Given the description of an element on the screen output the (x, y) to click on. 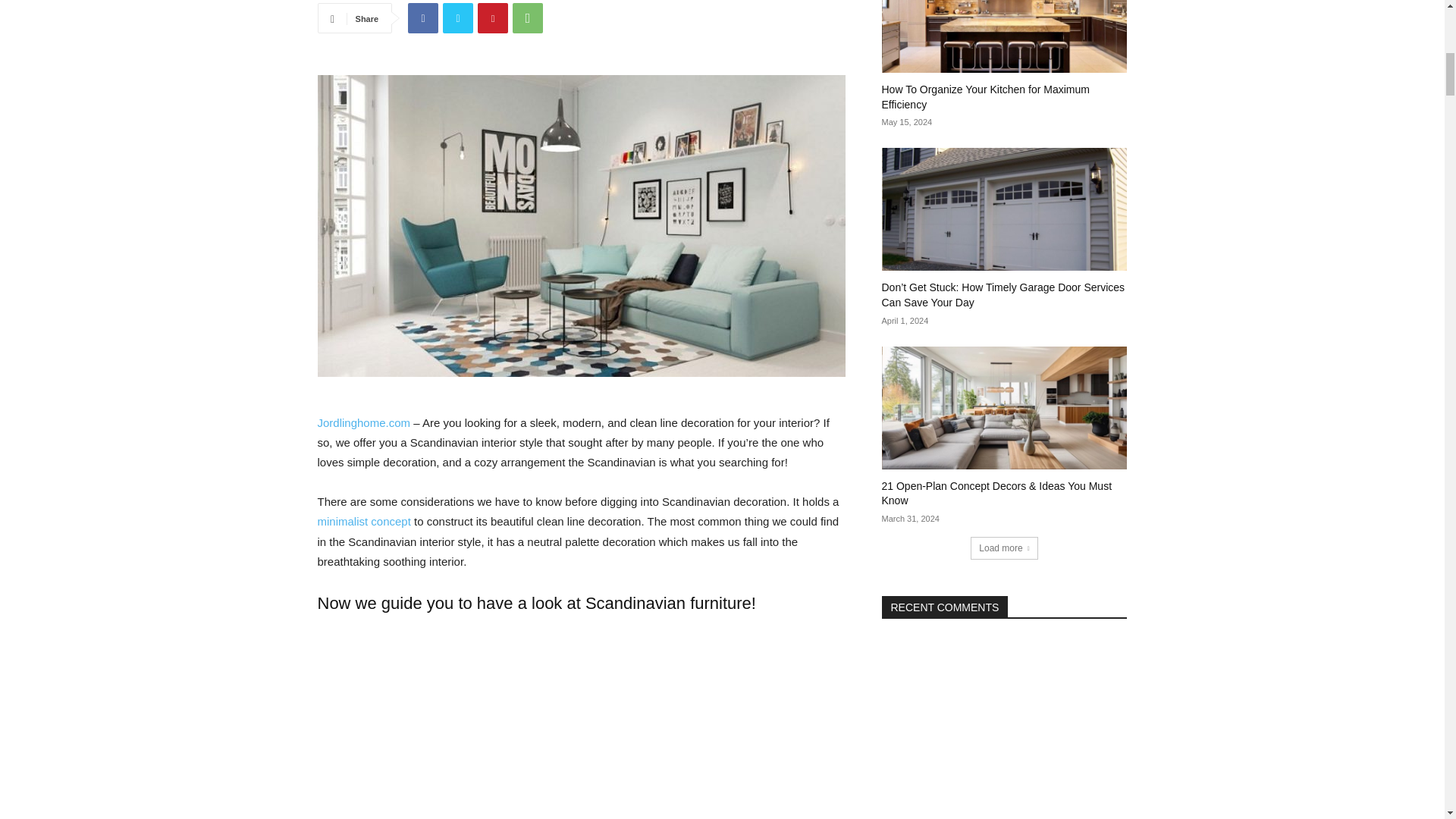
Twitter (457, 18)
WhatsApp (527, 18)
Pinterest (492, 18)
Facebook (422, 18)
Jordlinghome.com (363, 422)
